Given the description of an element on the screen output the (x, y) to click on. 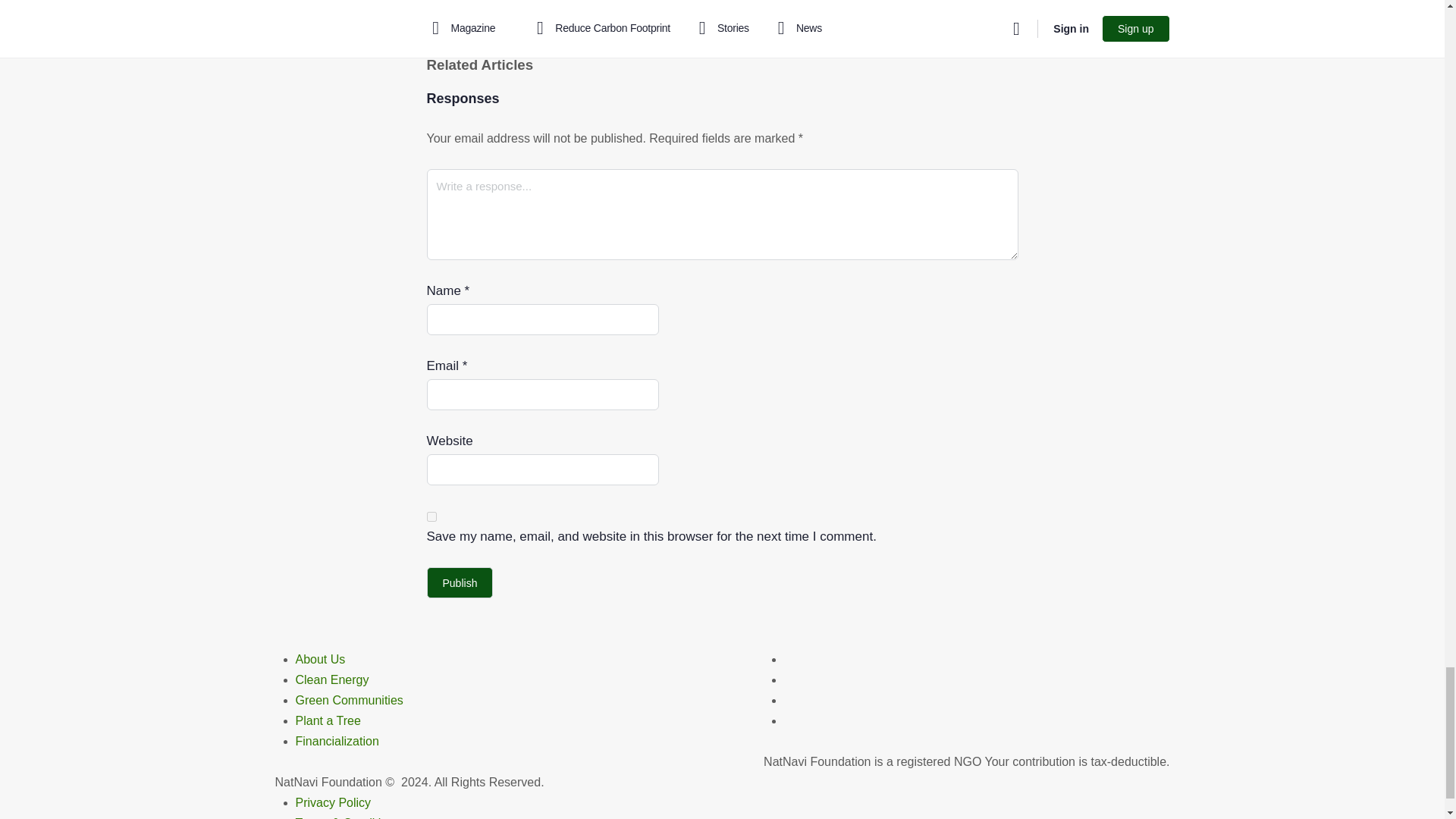
yes (430, 516)
sustainable transportation (706, 8)
Publish (459, 582)
